Given the description of an element on the screen output the (x, y) to click on. 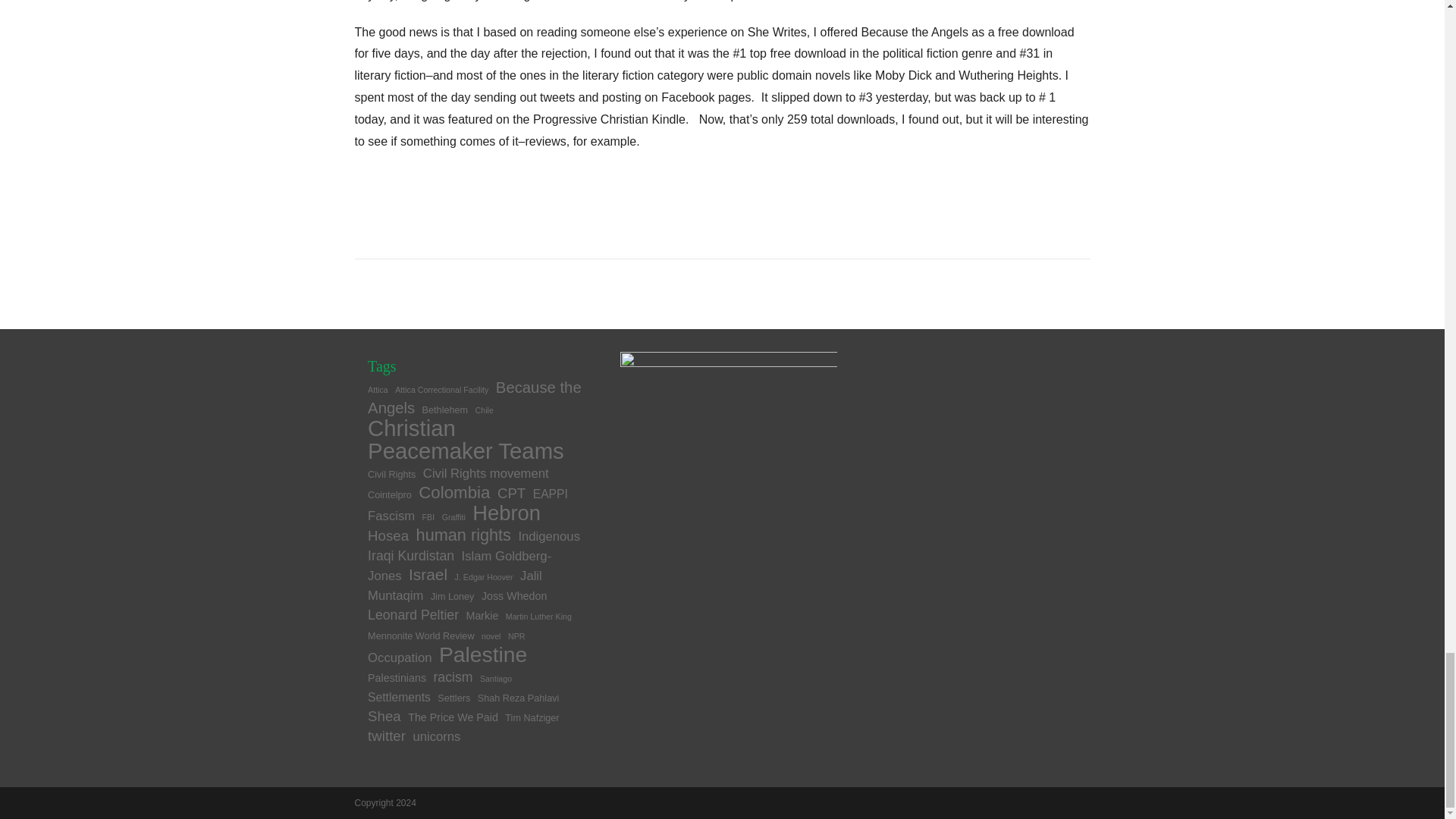
EAPPI (549, 493)
Attica Correctional Facility (440, 388)
Hosea (388, 535)
Hebron (505, 512)
Iraqi Kurdistan (411, 555)
Civil Rights movement (485, 473)
CPT (511, 493)
Bethlehem (445, 409)
Graffiti (453, 516)
Chile (484, 409)
Christian Peacemaker Teams (466, 439)
Civil Rights (391, 474)
FBI (428, 516)
Fascism (391, 515)
Colombia (454, 492)
